Given the description of an element on the screen output the (x, y) to click on. 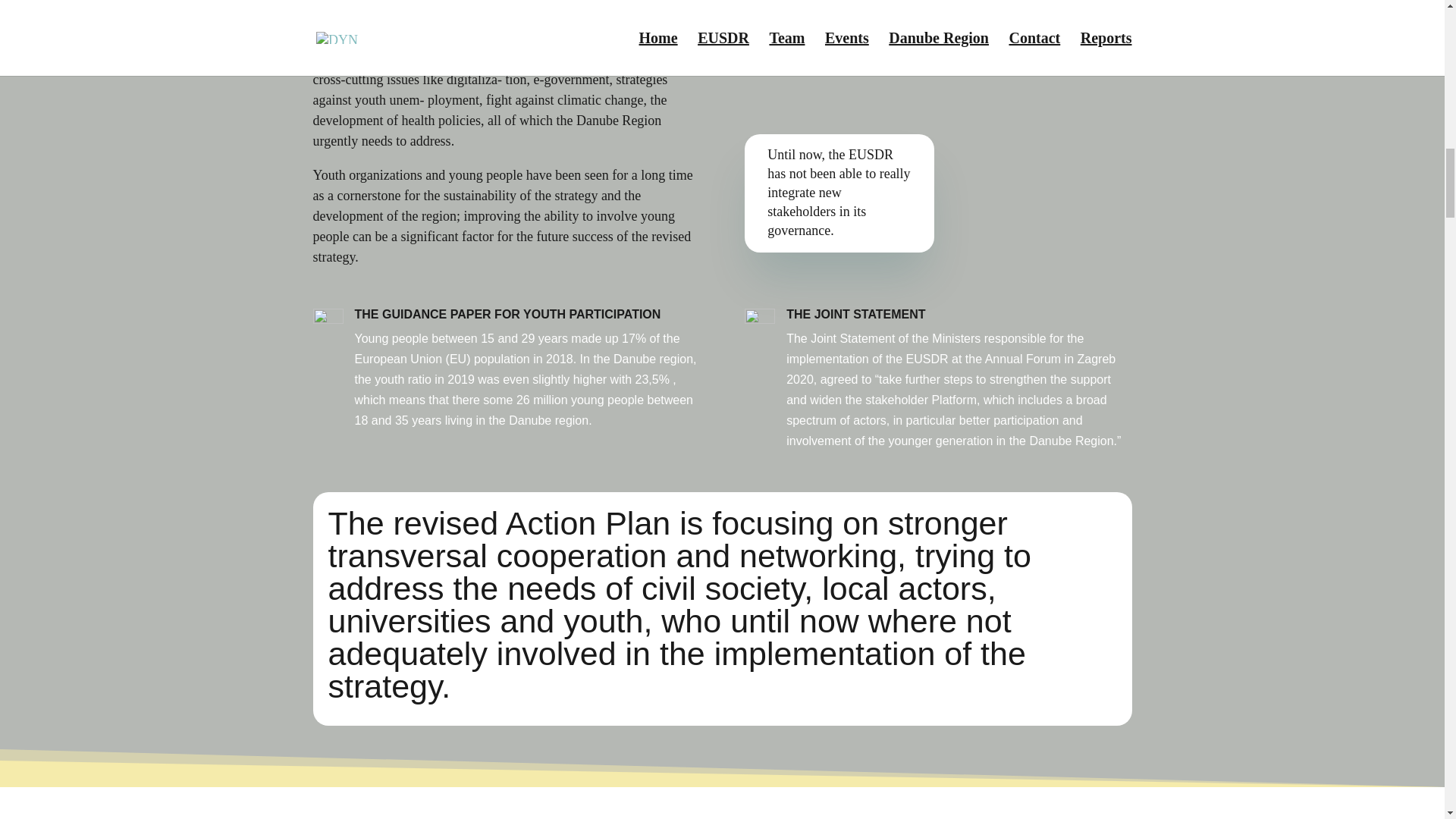
Page 10 (527, 379)
Page 10 (839, 192)
Page 10 (958, 389)
Page 3 (505, 158)
ngo-illustration-Artboard-5 (966, 113)
Page 9 (505, 107)
